Given the description of an element on the screen output the (x, y) to click on. 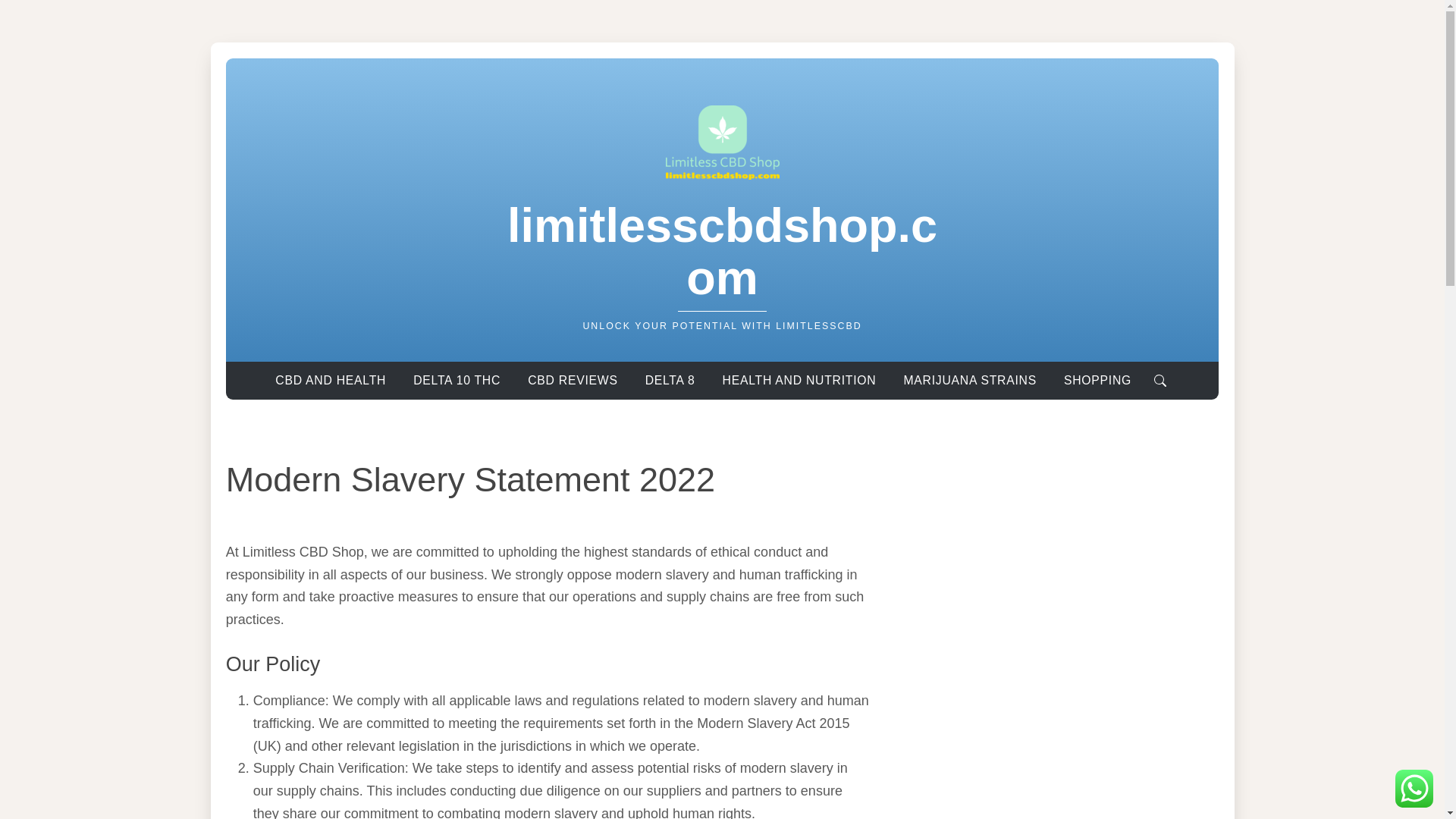
Search (1160, 379)
CBD REVIEWS (572, 379)
CBD AND HEALTH (330, 379)
DELTA 10 THC (456, 379)
limitlesscbdshop.com (721, 251)
SHOPPING (1097, 379)
HEALTH AND NUTRITION (799, 379)
MARIJUANA STRAINS (969, 379)
DELTA 8 (670, 379)
